Given the description of an element on the screen output the (x, y) to click on. 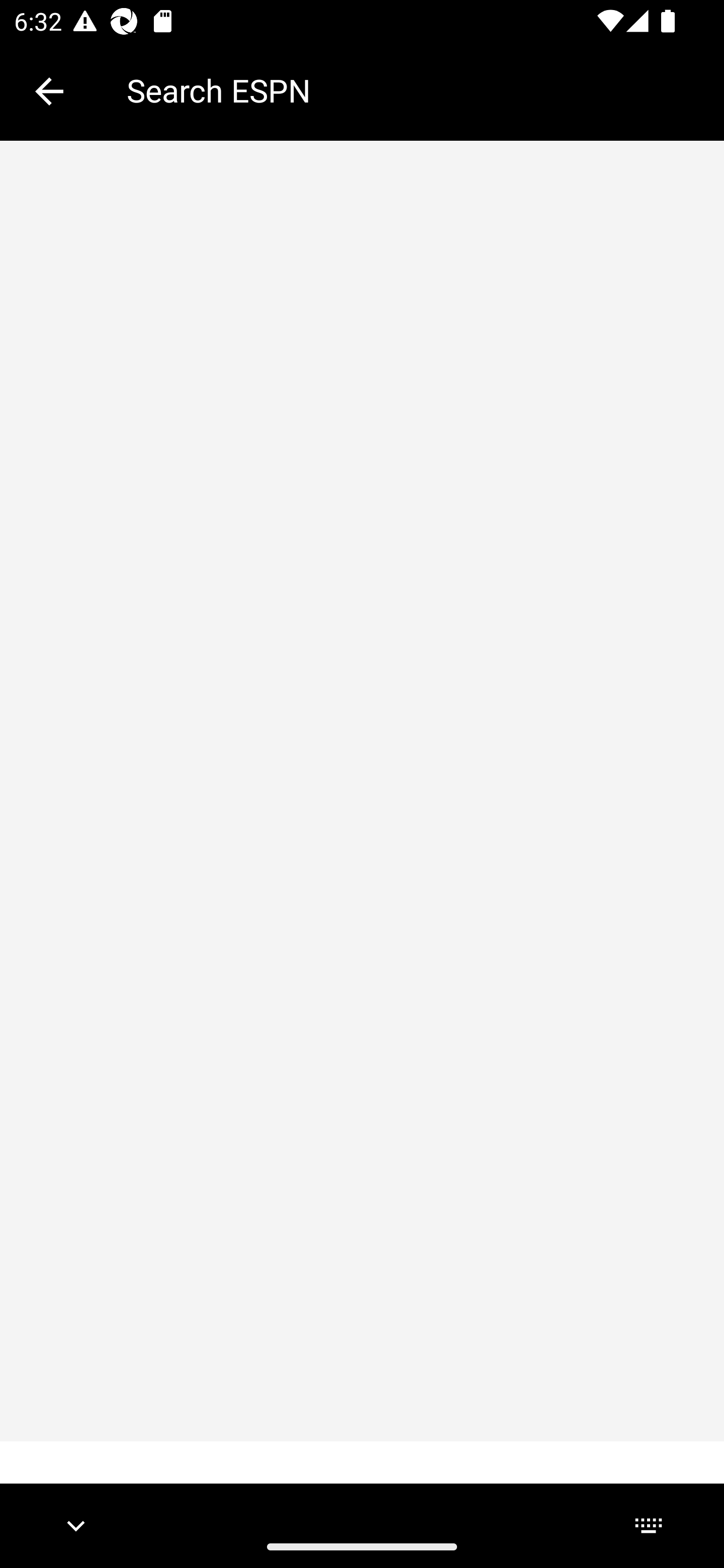
Collapse (49, 91)
Search ESPN (411, 90)
